Given the description of an element on the screen output the (x, y) to click on. 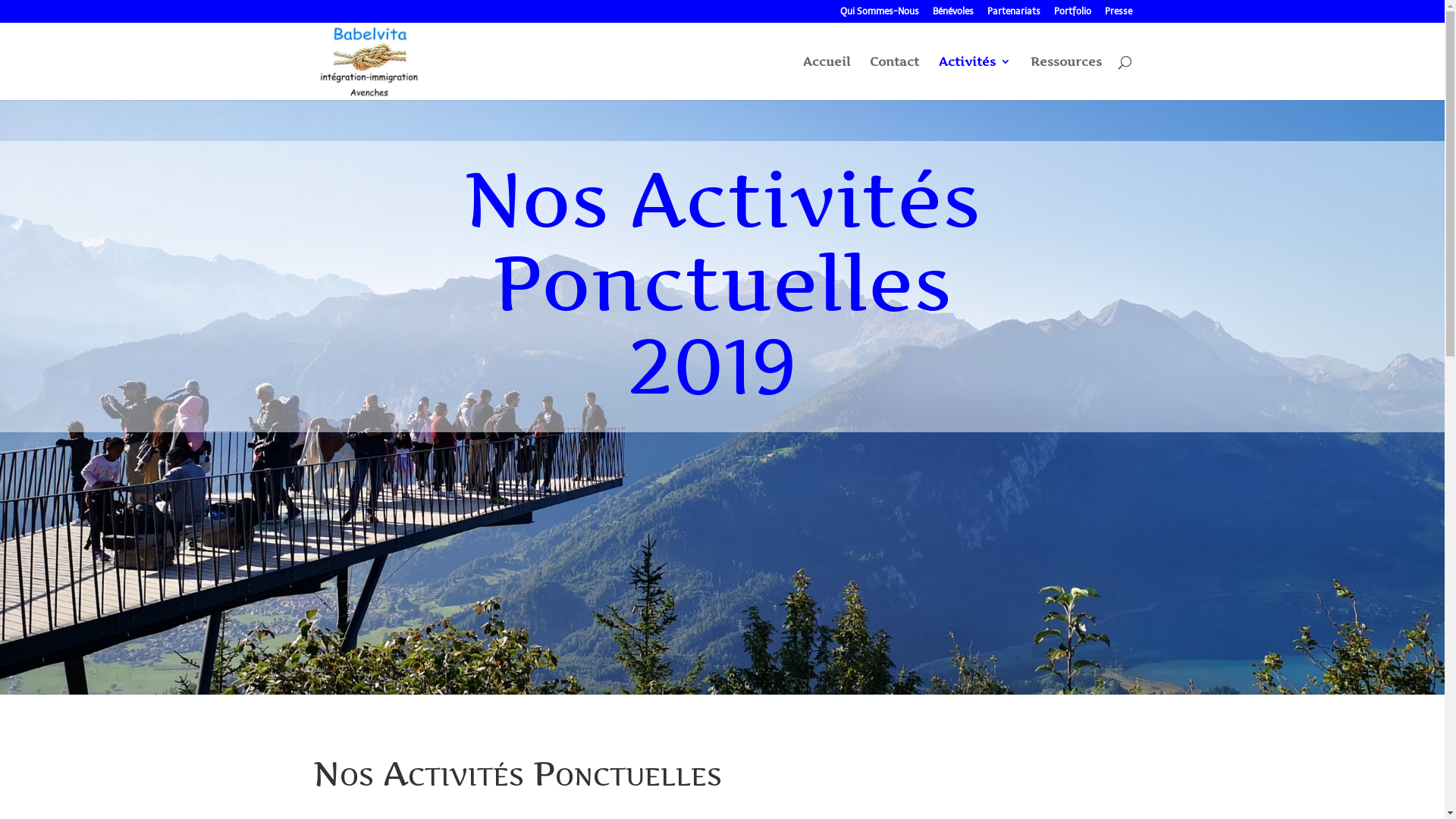
Presse Element type: text (1117, 14)
Partenariats Element type: text (1013, 14)
Ressources Element type: text (1065, 78)
Qui Sommes-Nous Element type: text (879, 14)
Portfolio Element type: text (1072, 14)
Contact Element type: text (893, 78)
Accueil Element type: text (825, 78)
